Given the description of an element on the screen output the (x, y) to click on. 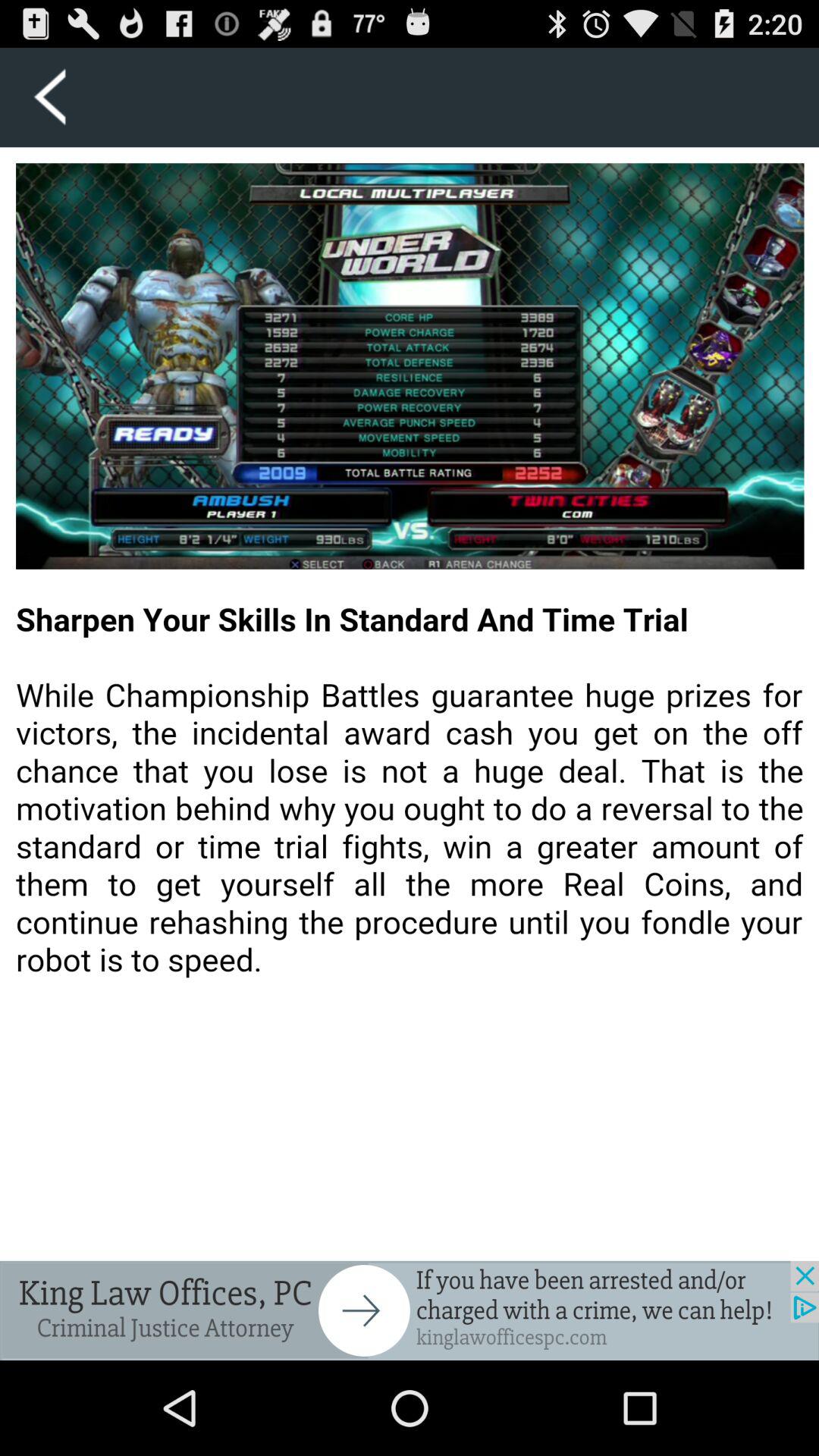
enter the setting box (49, 97)
